Given the description of an element on the screen output the (x, y) to click on. 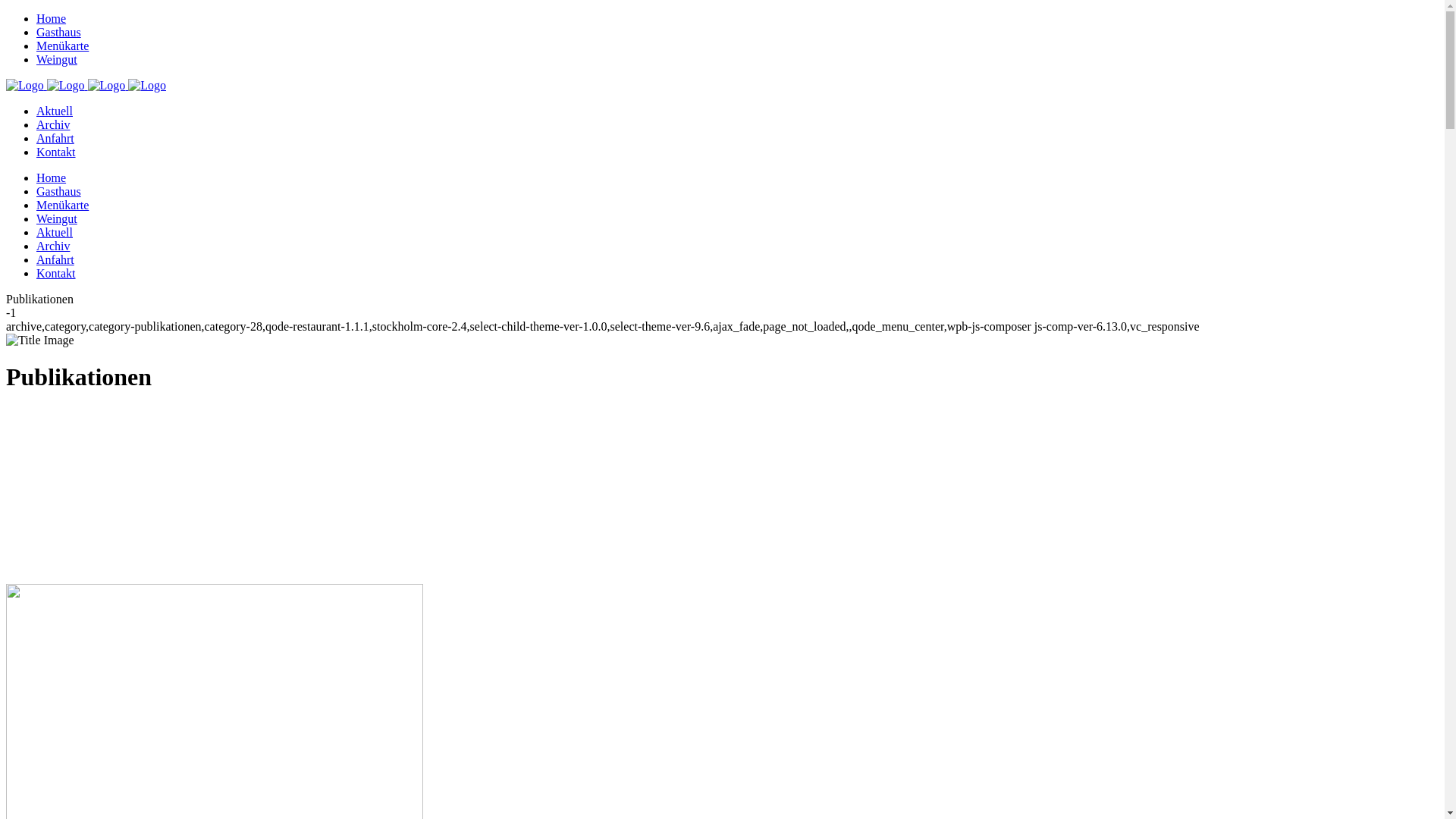
Gasthaus Element type: text (58, 31)
Archiv Element type: text (52, 124)
Archiv Element type: text (52, 245)
Anfahrt Element type: text (55, 259)
Kontakt Element type: text (55, 272)
Aktuell Element type: text (54, 110)
Home Element type: text (50, 18)
Weingut Element type: text (56, 59)
Kontakt Element type: text (55, 151)
Anfahrt Element type: text (55, 137)
Gasthaus Element type: text (58, 191)
Aktuell Element type: text (54, 231)
Home Element type: text (50, 177)
Weingut Element type: text (56, 218)
